Given the description of an element on the screen output the (x, y) to click on. 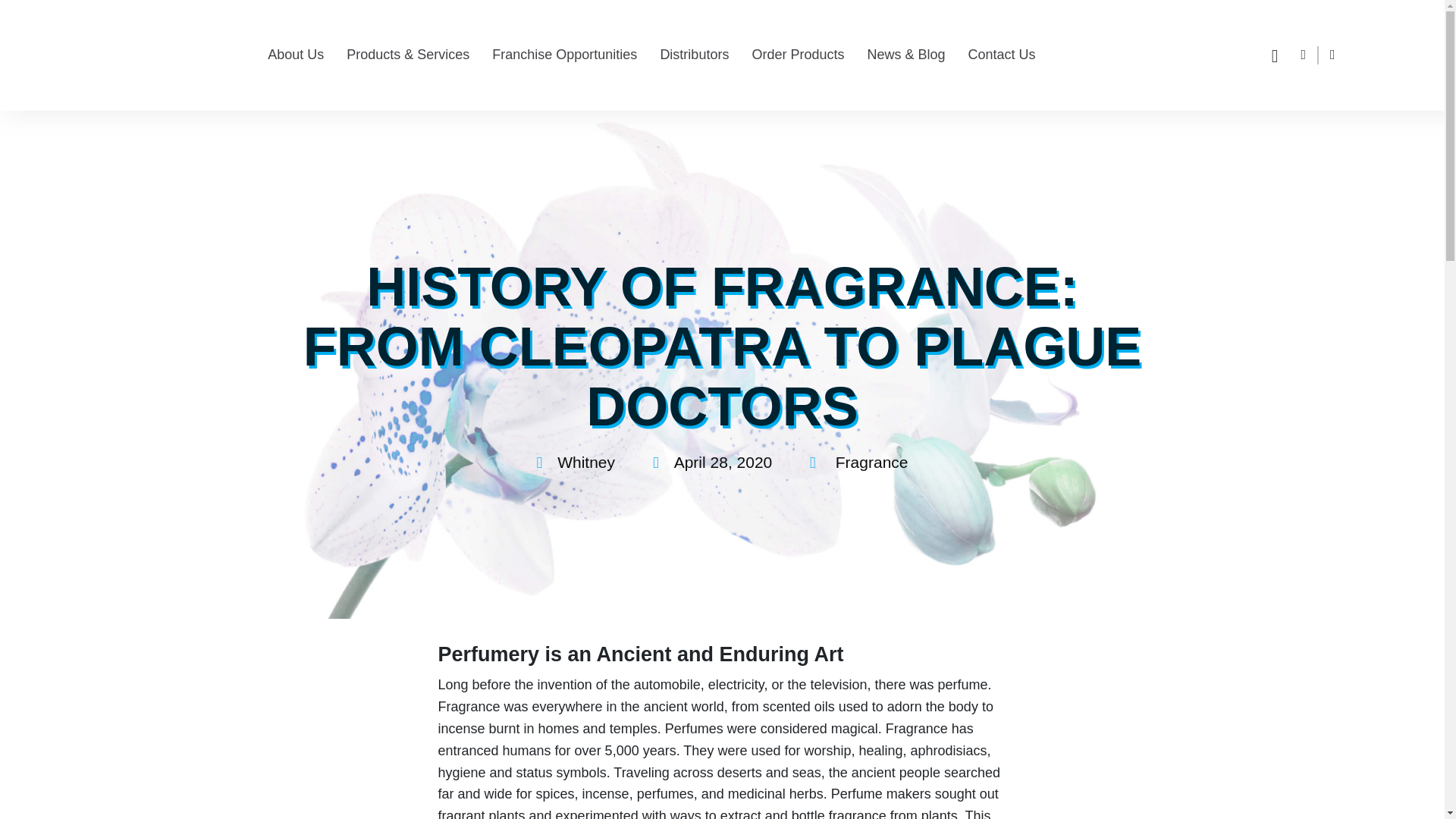
About Us (295, 54)
Franchise Opportunities (564, 54)
Distributors (694, 54)
Fragrance (871, 461)
Contact Us (1001, 54)
Order Products (797, 54)
